Given the description of an element on the screen output the (x, y) to click on. 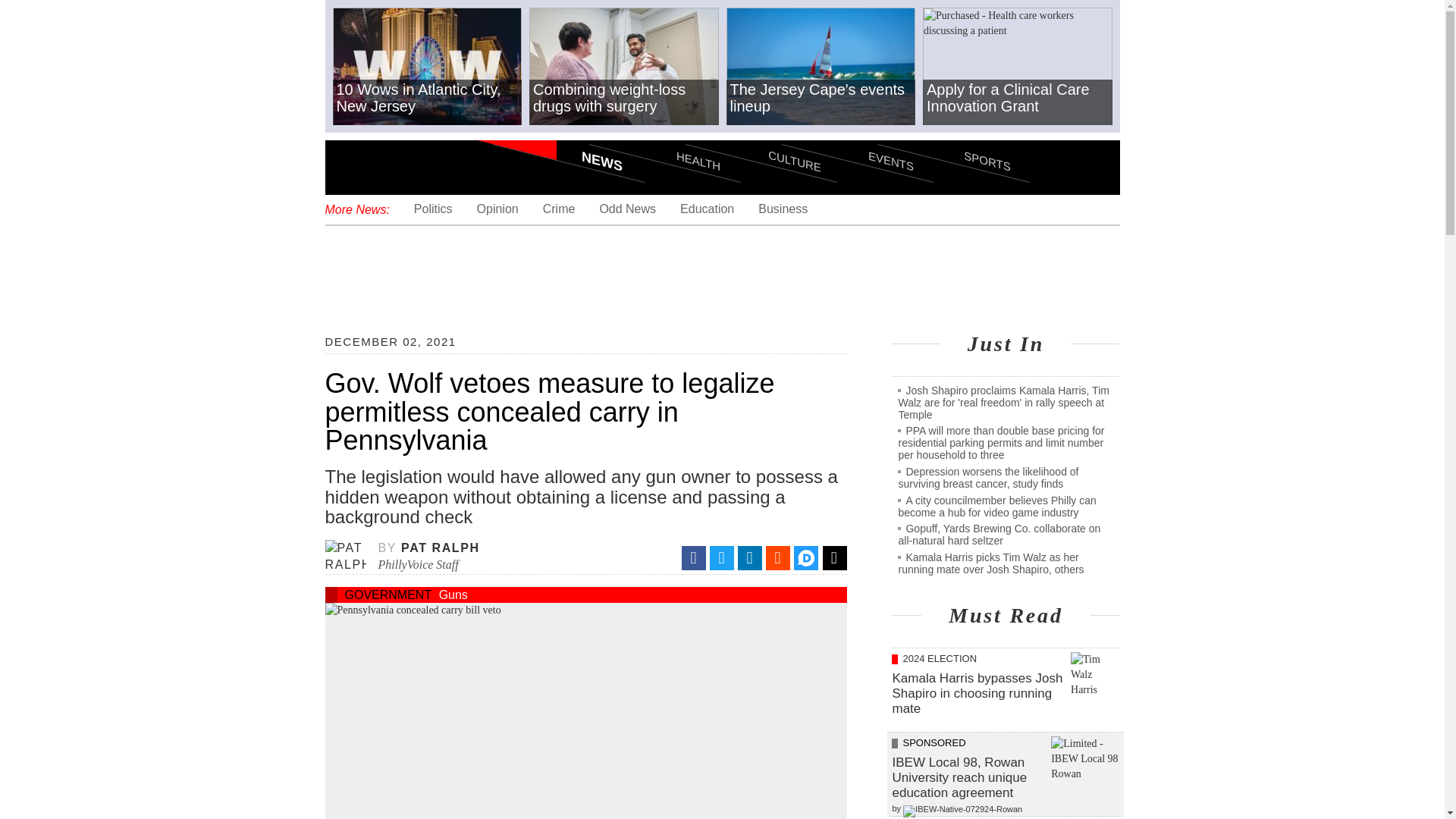
PhillyVoice (428, 166)
Combining weight-loss drugs with surgery (624, 67)
Reddit (777, 558)
LinkedIn (749, 558)
CULTURE (761, 132)
10 Wows in Atlantic City, New Jersey (426, 67)
EVENTS (856, 132)
Facebook (693, 558)
Email (833, 558)
NEWS (569, 132)
Twitter (721, 558)
HEALTH (663, 132)
SPORTS (953, 132)
The Jersey Cape's events lineup (820, 67)
Apply for a Clinical Care Innovation Grant (1017, 67)
